Given the description of an element on the screen output the (x, y) to click on. 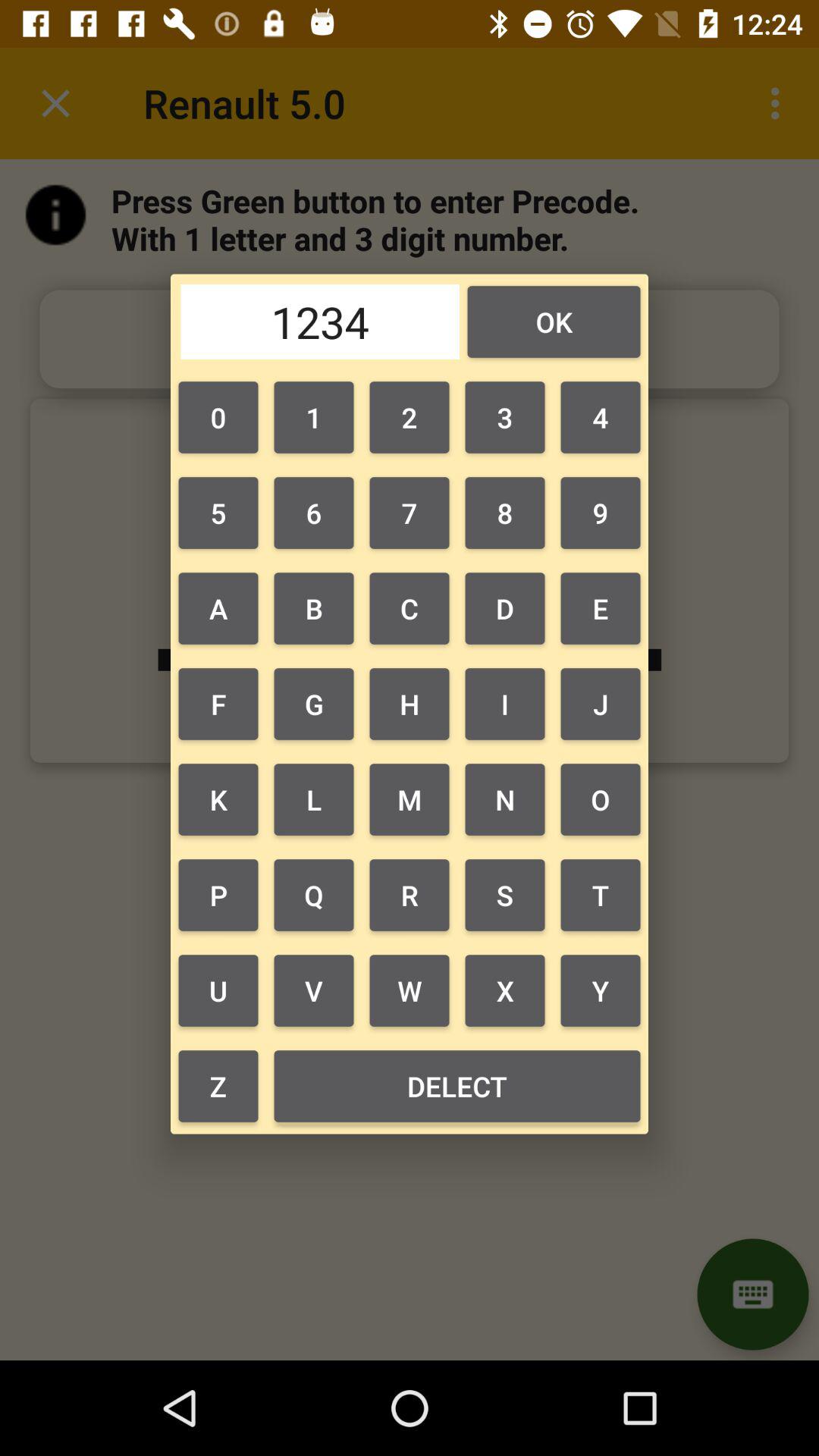
jump to 2 icon (409, 417)
